Given the description of an element on the screen output the (x, y) to click on. 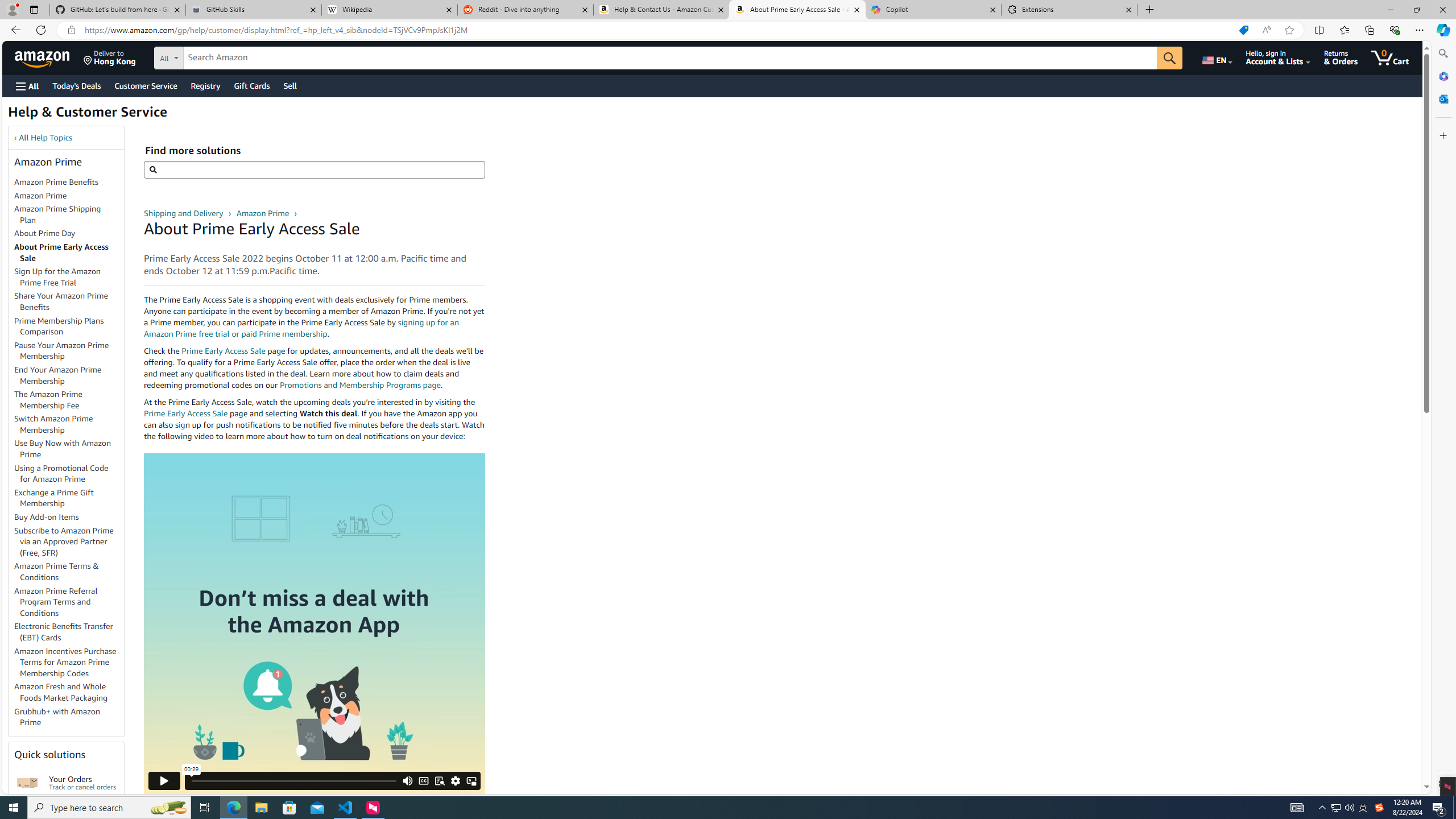
Amazon Prime Referral Program Terms and Conditions (68, 602)
The Amazon Prime Membership Fee (68, 400)
Amazon Prime Shipping Plan (57, 214)
Pause Your Amazon Prime Membership (68, 350)
Mute (407, 780)
Help & Customer Service (87, 114)
Transcript (439, 780)
Search in (210, 56)
Share Your Amazon Prime Benefits (61, 301)
End Your Amazon Prime Membership (57, 374)
Class: PrefsButton_module_gearIcon__39297261 (455, 780)
Amazon Fresh and Whole Foods Market Packaging (68, 692)
